Given the description of an element on the screen output the (x, y) to click on. 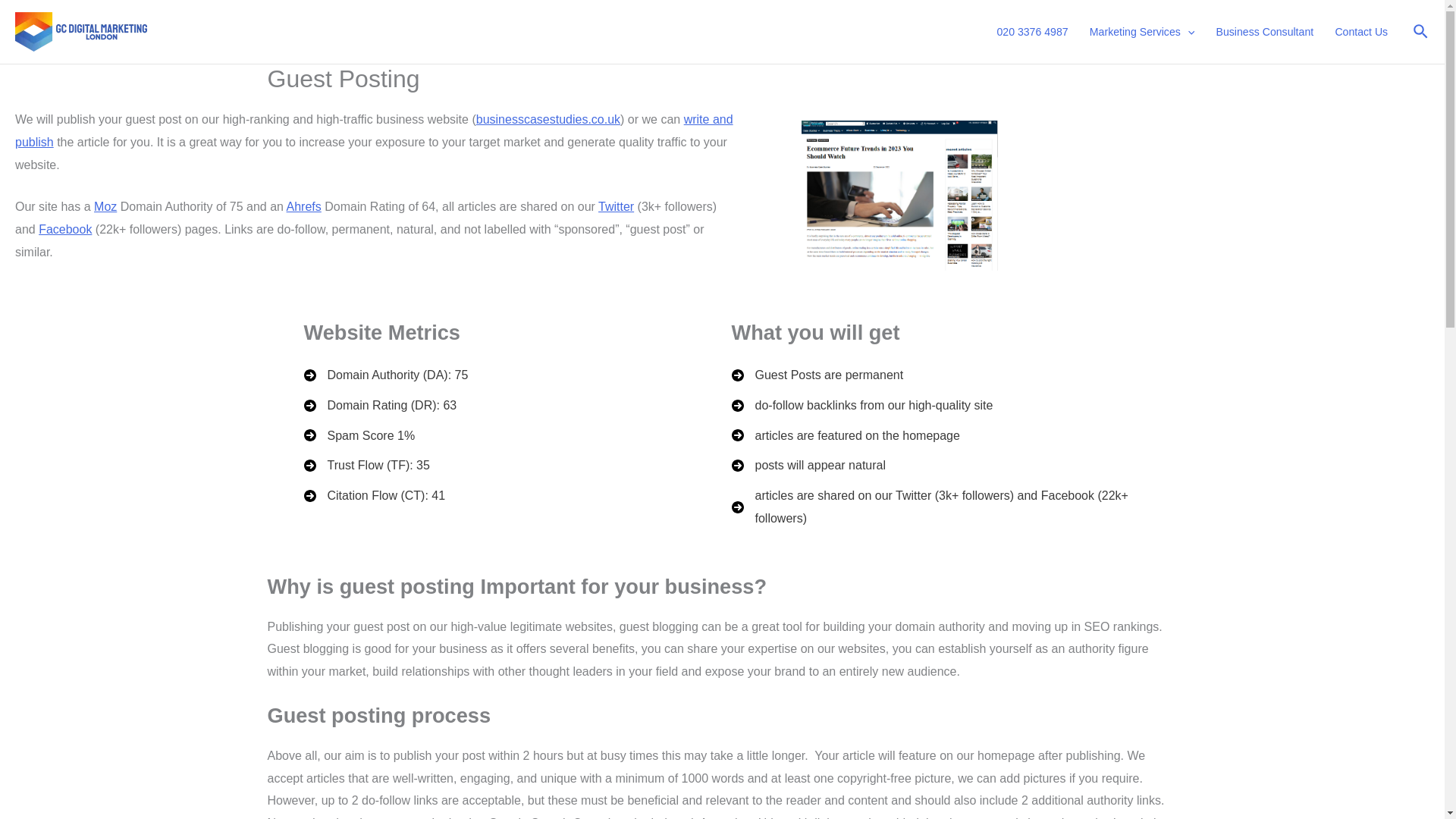
Contact Us (1360, 31)
Marketing Services (1141, 31)
write and publish (373, 130)
Business Consultant (1264, 31)
Ahrefs (303, 205)
Moz (105, 205)
Facebook (65, 228)
Twitter (615, 205)
businesscasestudies.co.uk (548, 119)
020 3376 4987 (1031, 31)
